Given the description of an element on the screen output the (x, y) to click on. 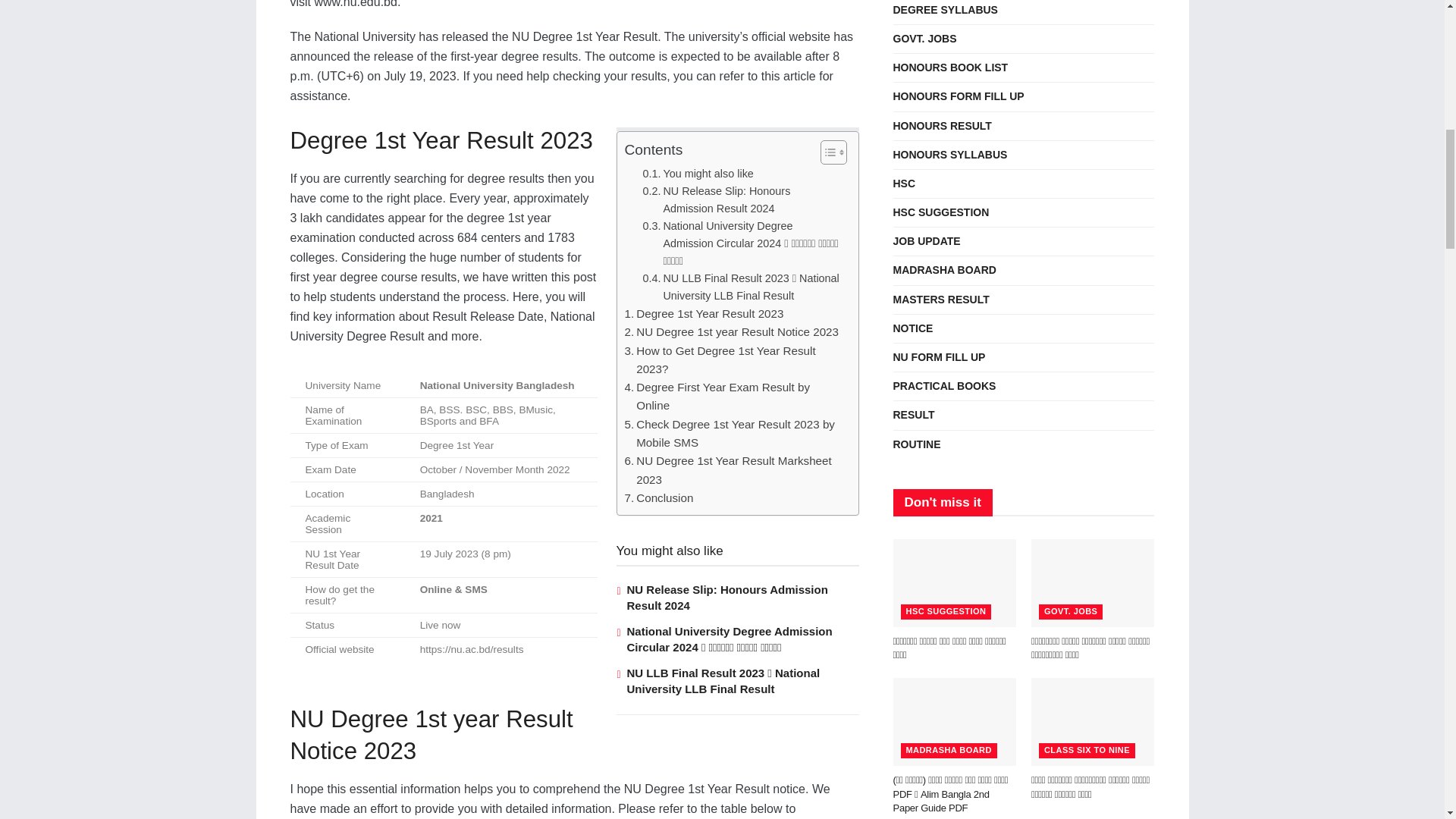
Degree First Year Exam Result by Online (733, 396)
Degree 1st Year Result 2023 (704, 313)
How to Get Degree 1st Year Result 2023? (733, 360)
Check Degree 1st Year Result 2023 by Mobile SMS (733, 433)
You might also like (698, 173)
NU Degree 1st year Result Notice 2023 (731, 331)
Conclusion (659, 497)
NU Degree 1st Year Result Marksheet 2023 (733, 470)
